Given the description of an element on the screen output the (x, y) to click on. 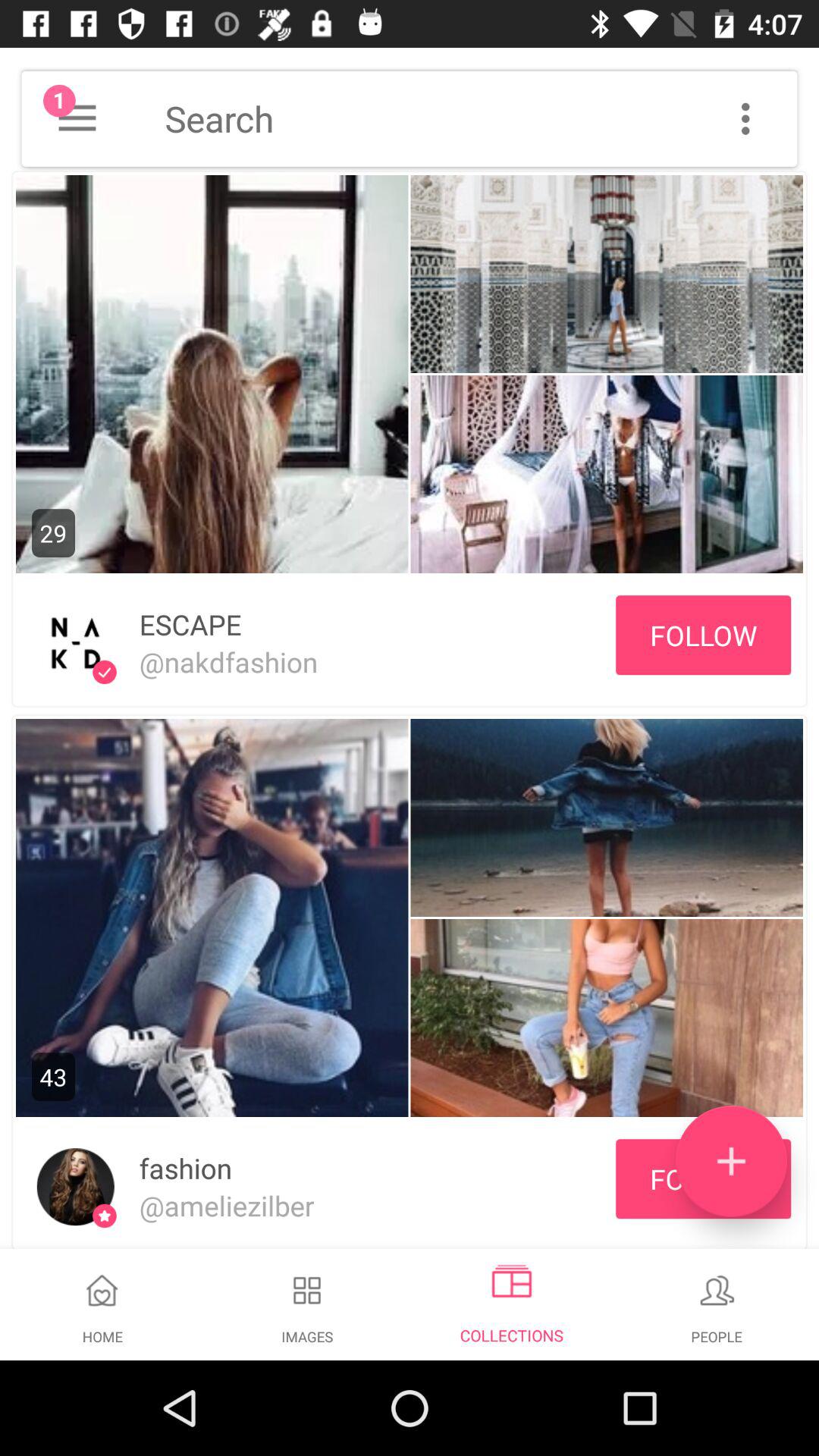
open item next to the fashion item (731, 1161)
